Given the description of an element on the screen output the (x, y) to click on. 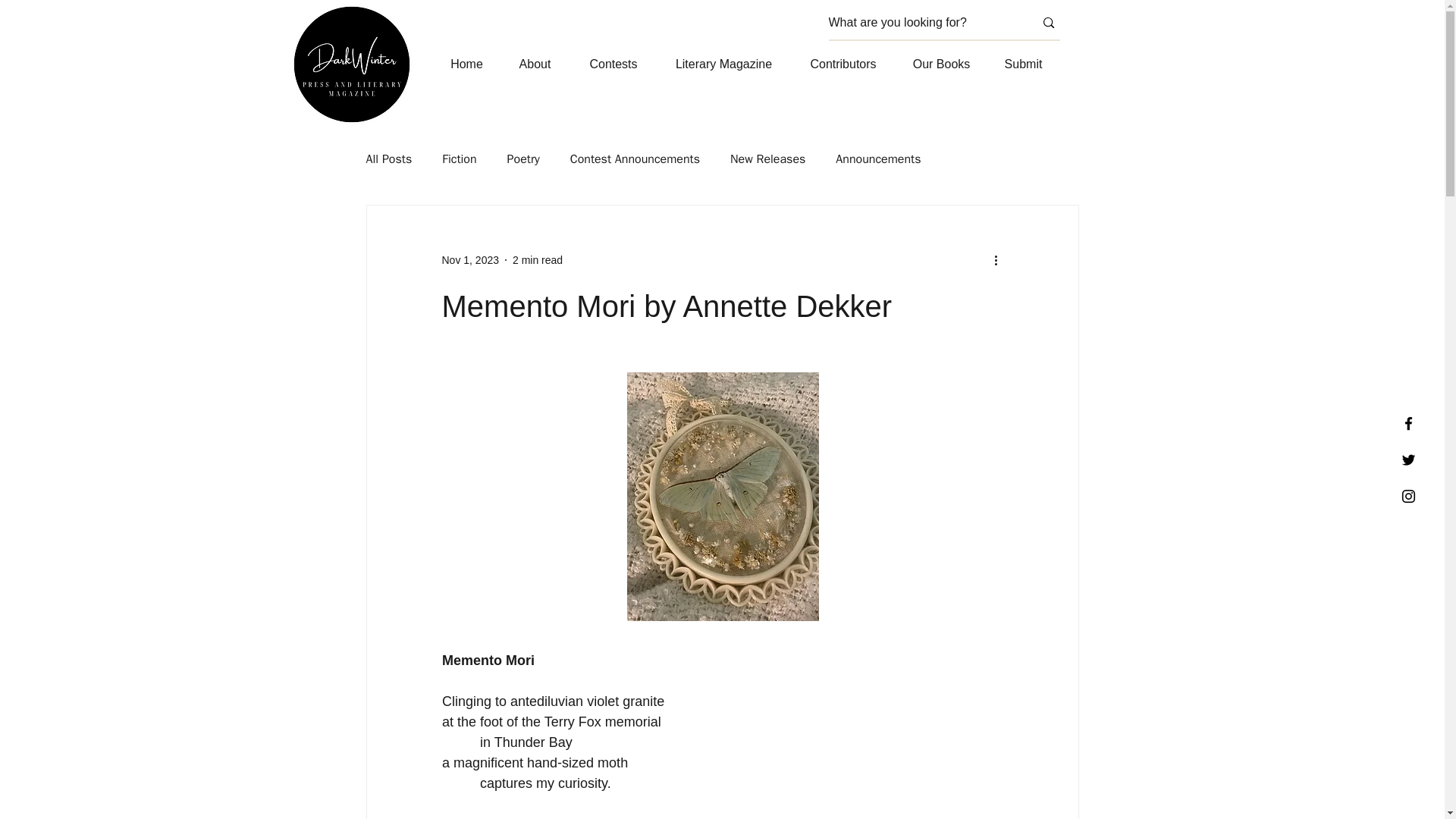
logo.JPG (350, 64)
New Releases (767, 159)
Poetry (523, 159)
Contributors (842, 63)
Announcements (877, 159)
Nov 1, 2023 (470, 259)
About (535, 63)
Contest Announcements (635, 159)
Literary Magazine (723, 63)
Contests (614, 63)
